Given the description of an element on the screen output the (x, y) to click on. 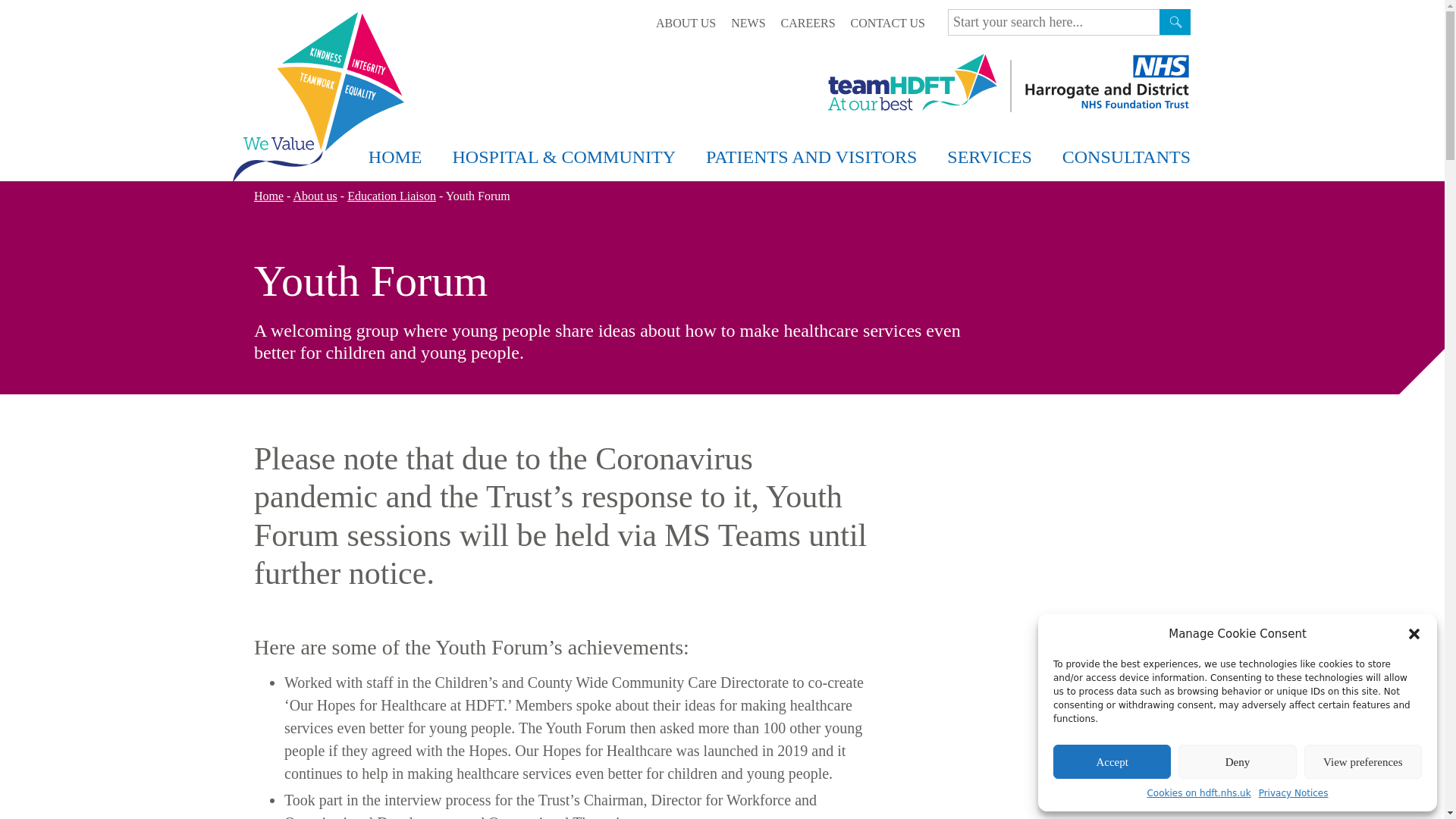
Cookies on hdft.nhs.uk (1198, 793)
View preferences (1363, 761)
Accept (1111, 761)
Go to Education Liaison. (391, 195)
Deny (1236, 761)
Go to About us. (315, 195)
Privacy Notices (1293, 793)
Go to Harrogate and District NHS Foundation Trust. (268, 195)
